Given the description of an element on the screen output the (x, y) to click on. 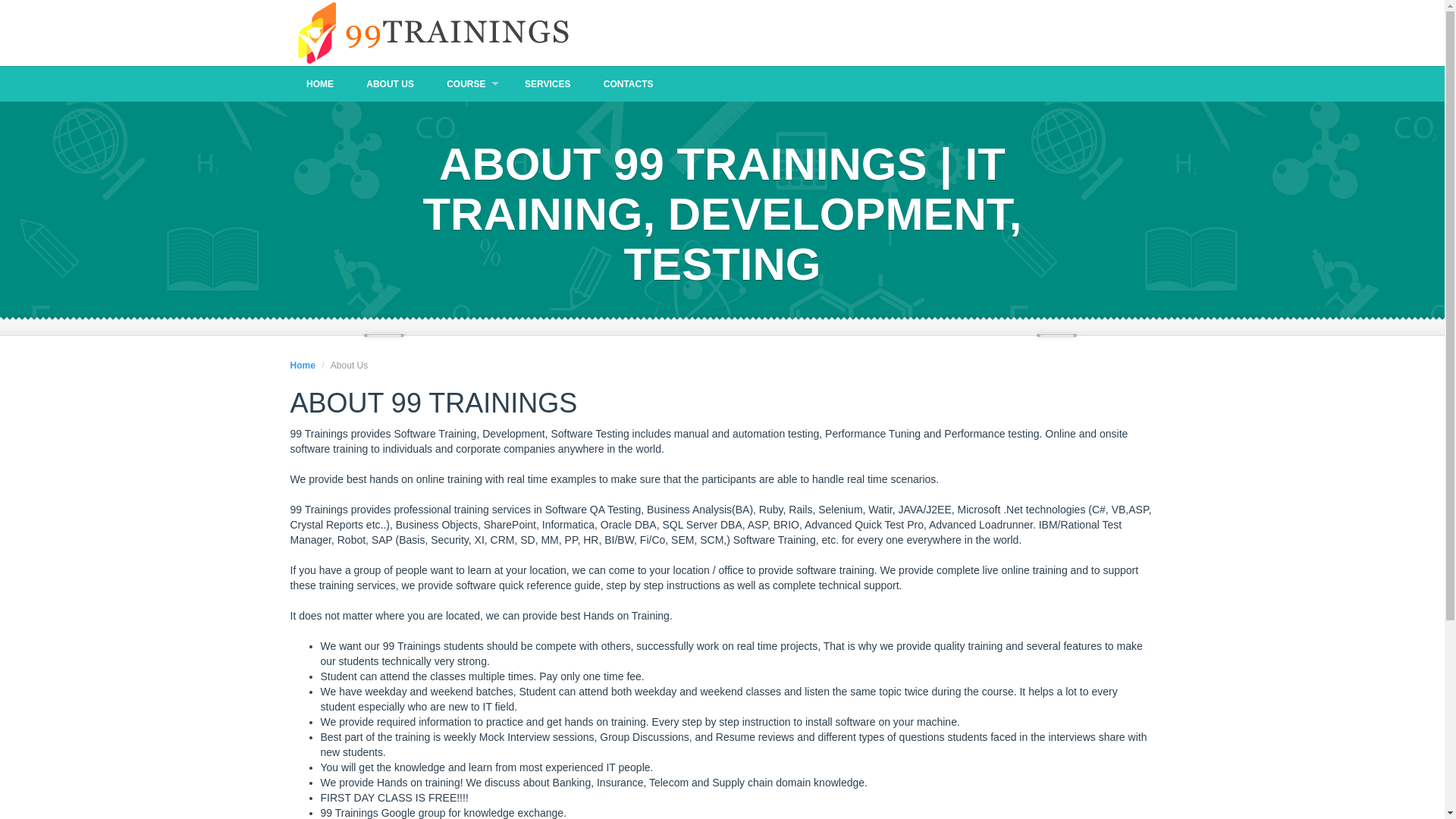
CONTACTS (627, 83)
SERVICES (547, 83)
Learn (429, 32)
HOME (319, 83)
COURSE (469, 83)
Home (301, 365)
ABOUT US (390, 83)
